Given the description of an element on the screen output the (x, y) to click on. 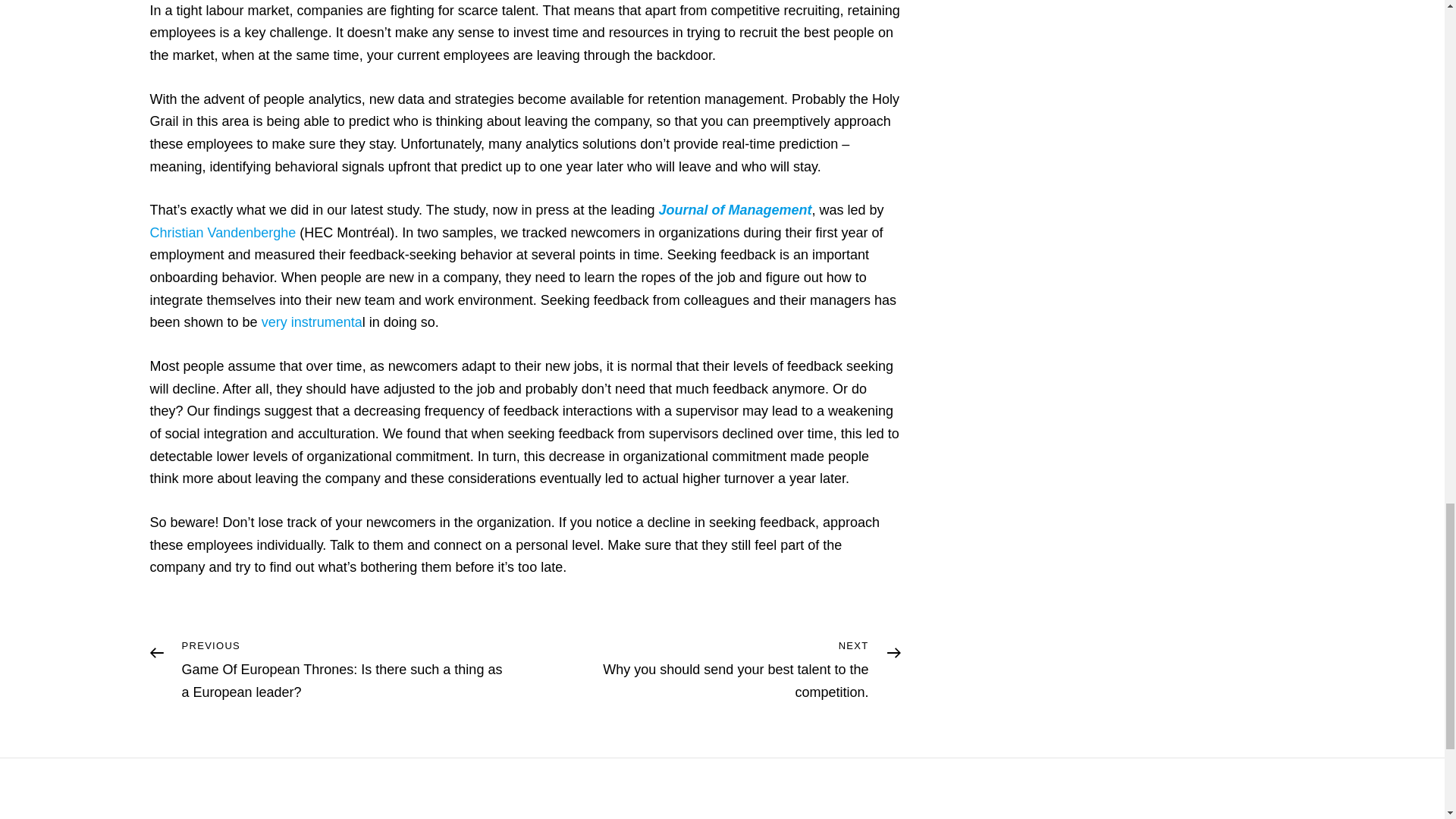
Christian Vandenberghe (223, 232)
Journal of Management (735, 209)
very instrumenta (312, 322)
